Given the description of an element on the screen output the (x, y) to click on. 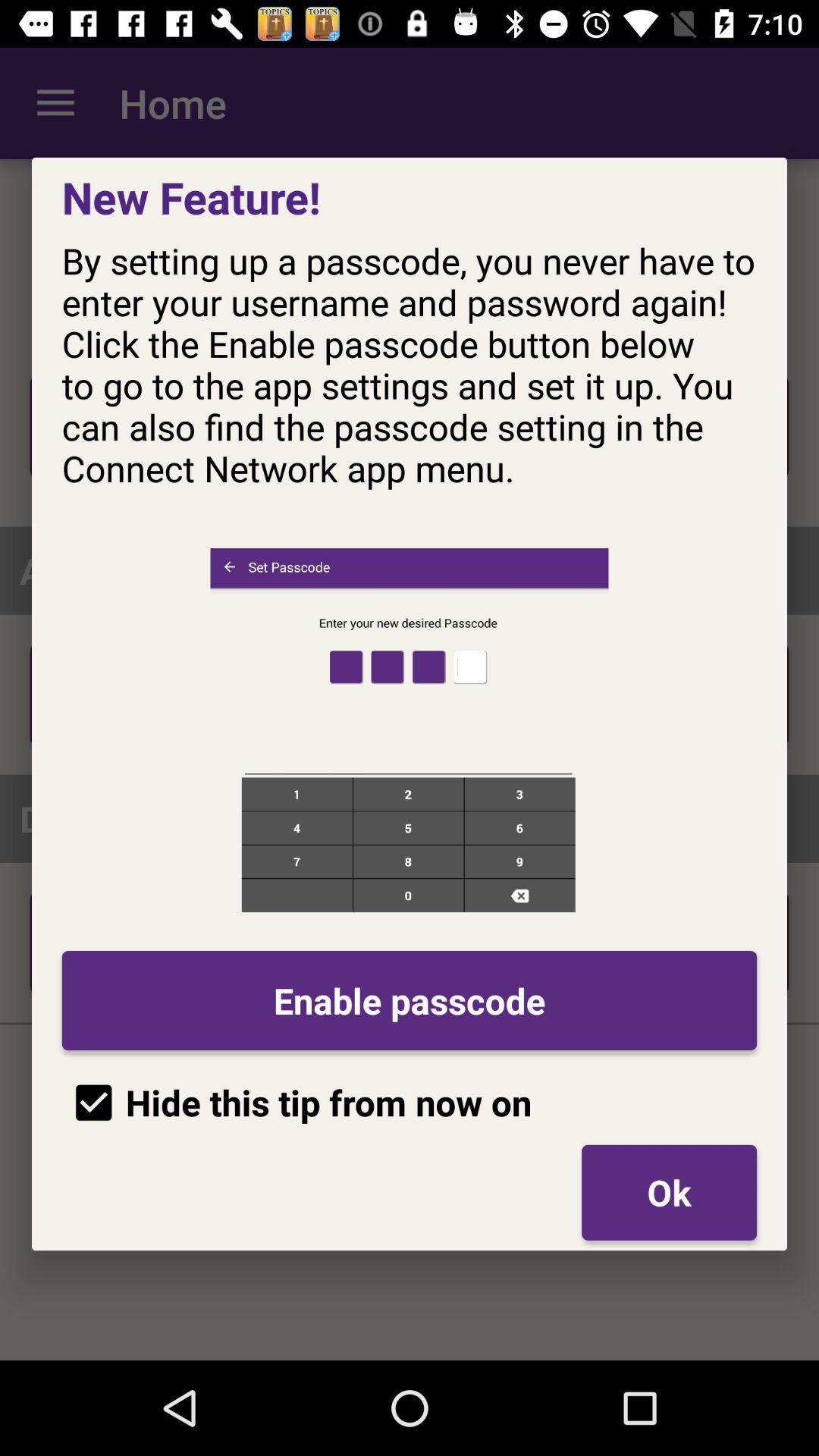
open icon below the enable passcode item (669, 1192)
